Given the description of an element on the screen output the (x, y) to click on. 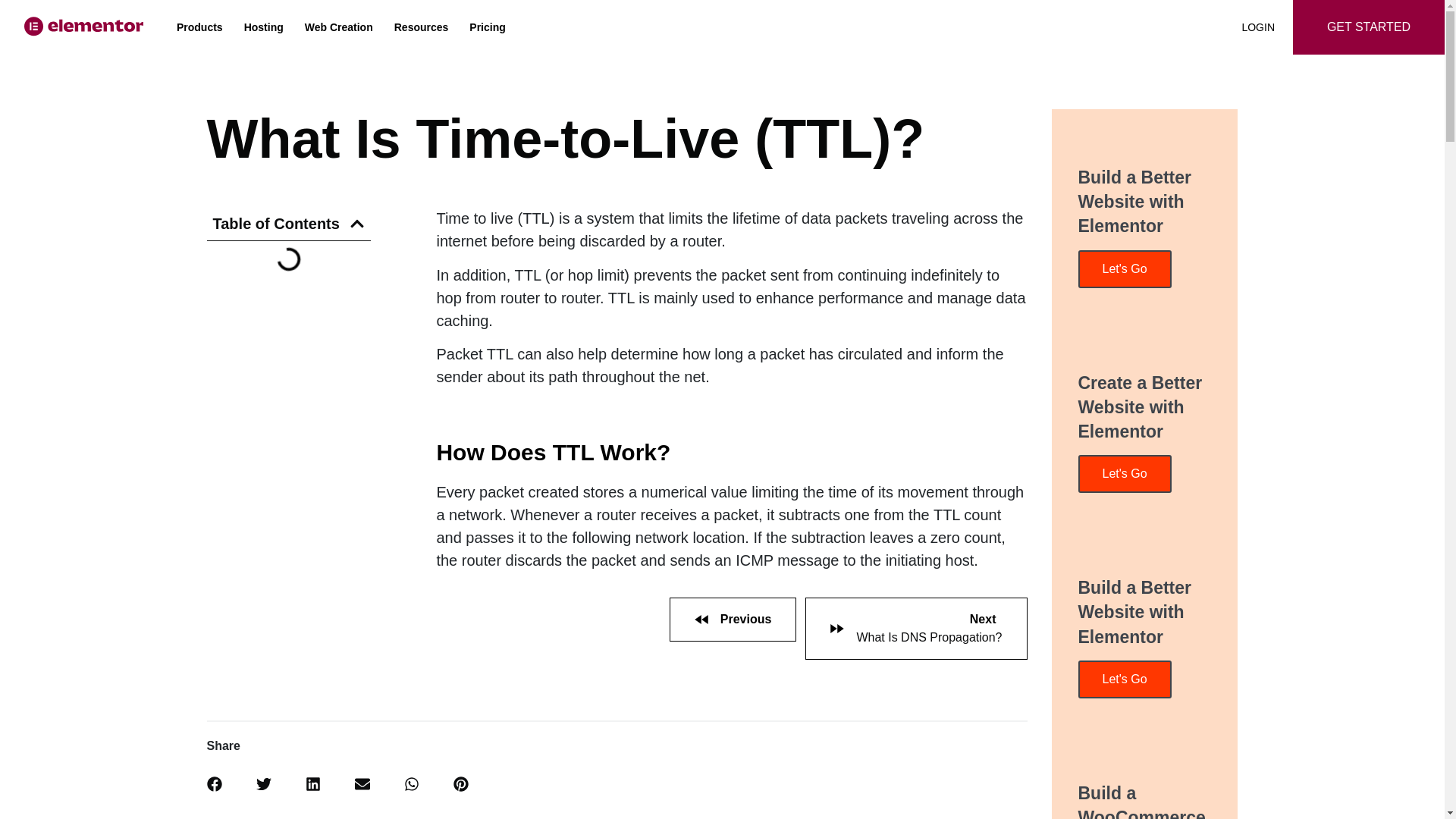
Resources (421, 27)
Hosting (263, 27)
Products (199, 27)
Web Creation (338, 27)
Pricing (486, 27)
